Given the description of an element on the screen output the (x, y) to click on. 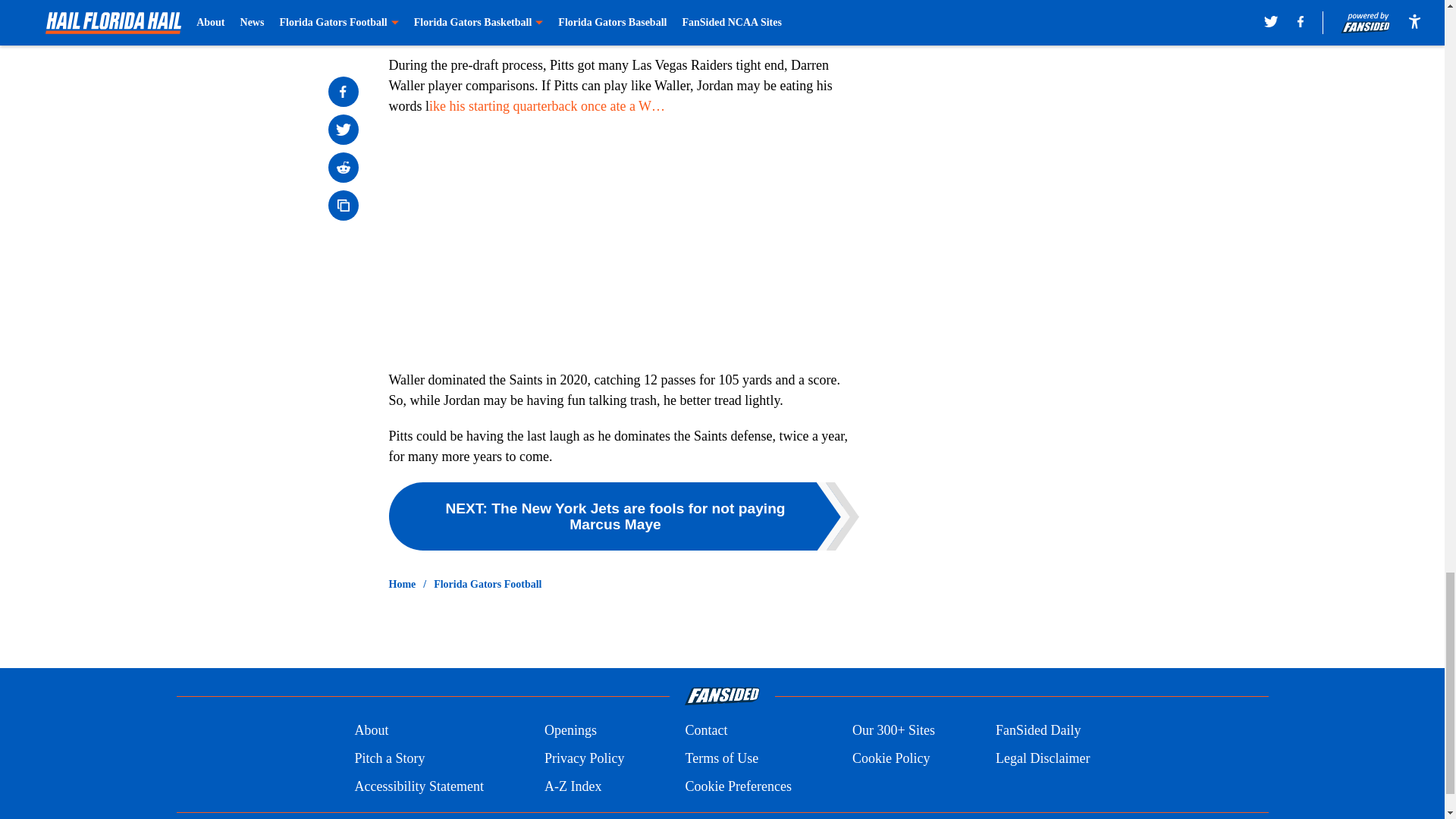
Home (401, 584)
Offensive Rookie of the Year (642, 8)
NEXT: The New York Jets are fools for not paying Marcus Maye (623, 516)
FanSided Daily (1038, 730)
Openings (570, 730)
About (370, 730)
Florida Gators Football (487, 584)
Pitch a Story (389, 758)
Contact (705, 730)
